Given the description of an element on the screen output the (x, y) to click on. 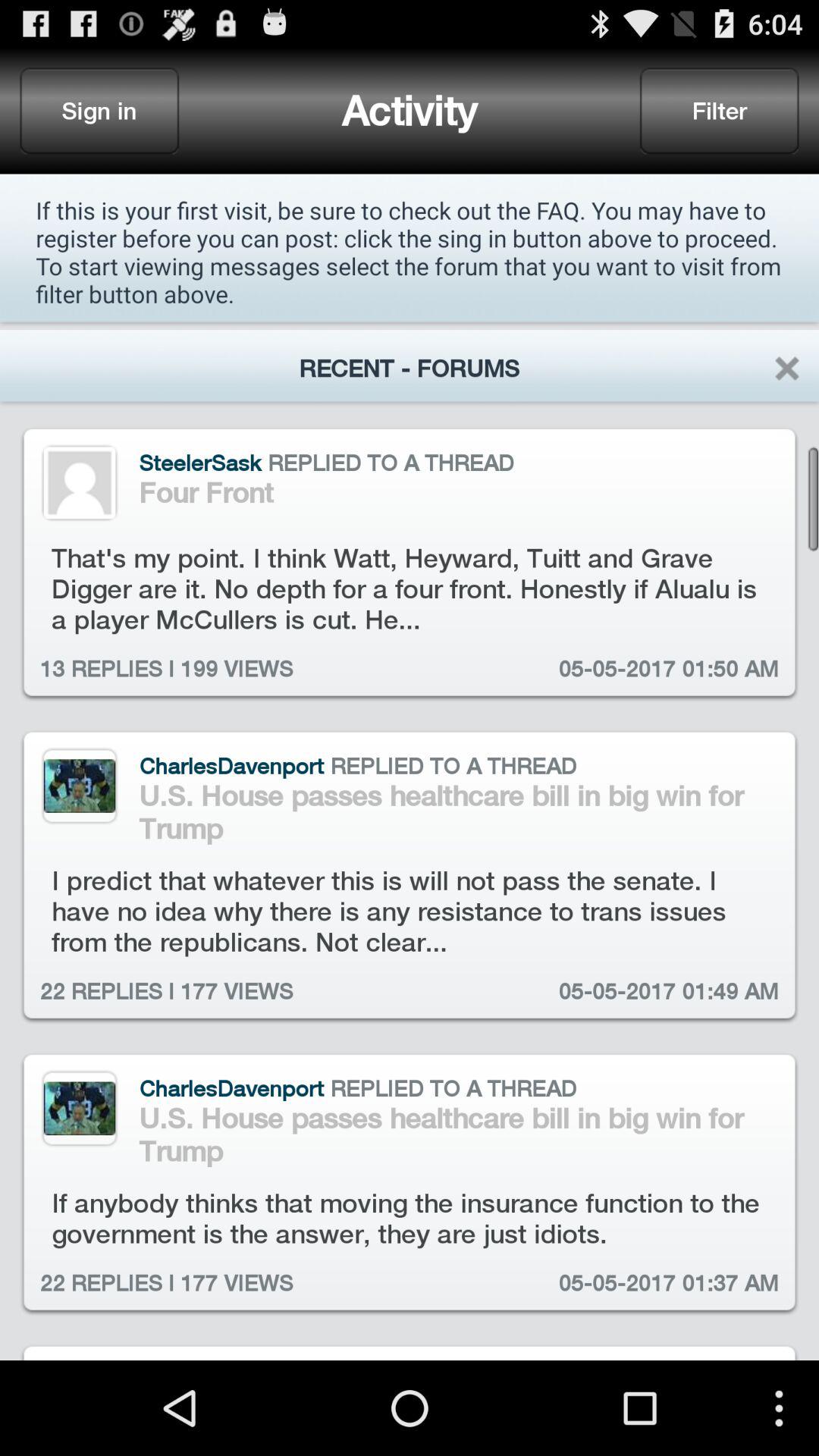
click on the third image (79, 1108)
